Given the description of an element on the screen output the (x, y) to click on. 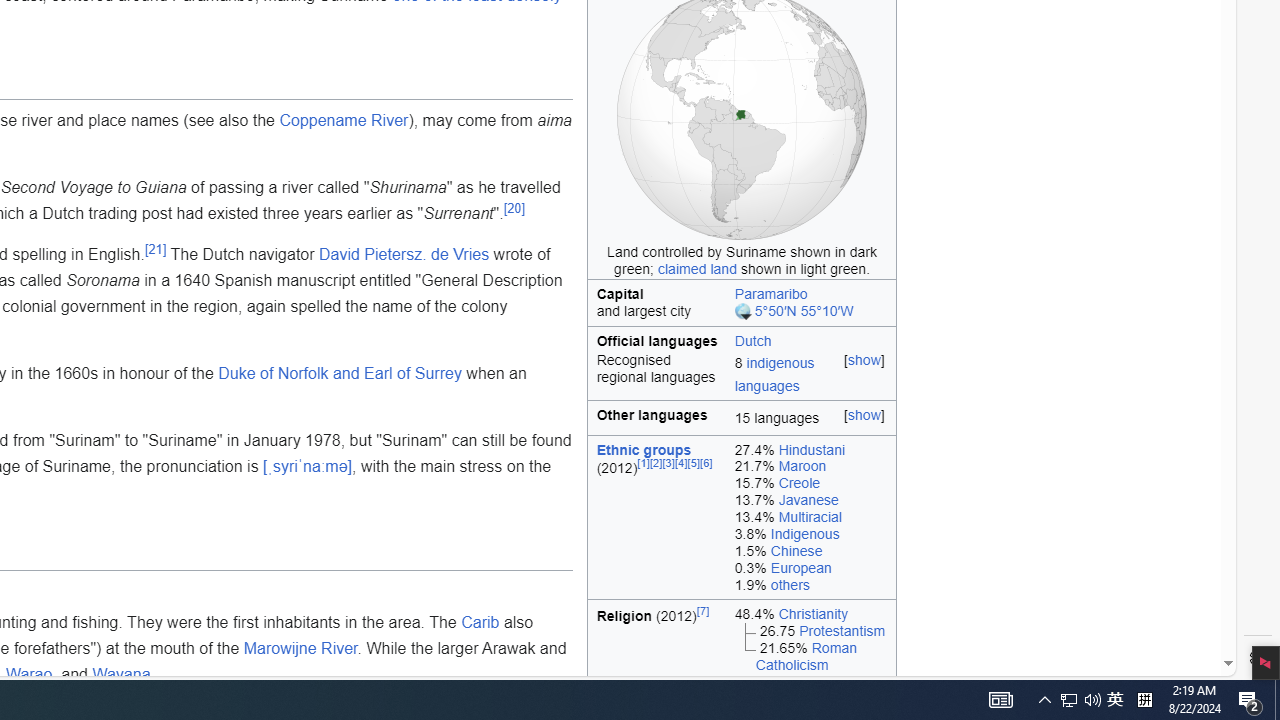
claimed land (697, 268)
[show] 8 indigenous languages (811, 376)
Other languages (657, 418)
[1] (643, 463)
Protestantism (841, 630)
[show] 15 languages (811, 418)
[2] (655, 463)
Wayana (121, 674)
Class: mergedtoprow (742, 339)
13.4% Multiracial (810, 518)
[6] (706, 463)
13.7% Javanese (810, 500)
